Given the description of an element on the screen output the (x, y) to click on. 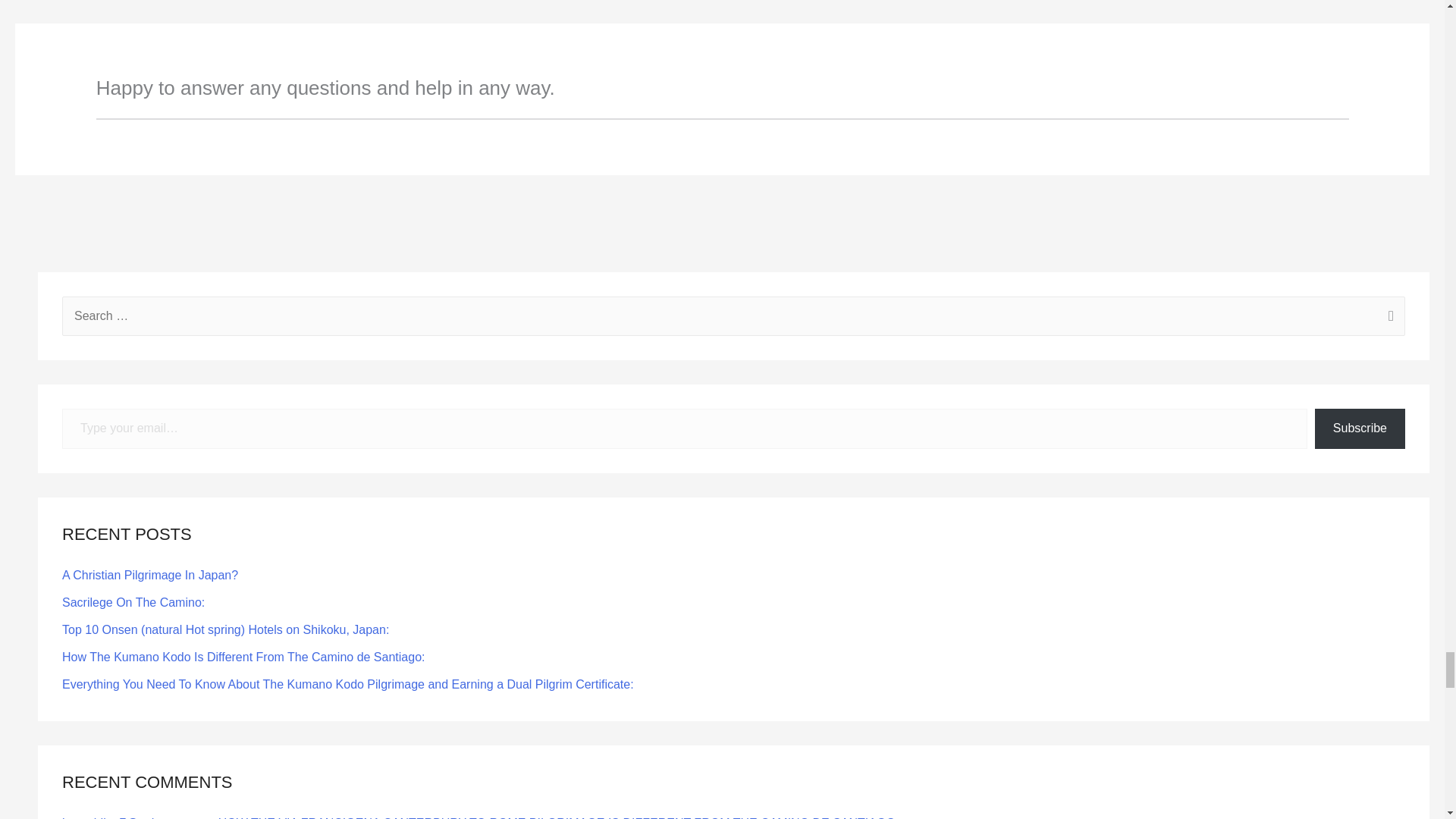
Please fill in this field. (684, 428)
